Given the description of an element on the screen output the (x, y) to click on. 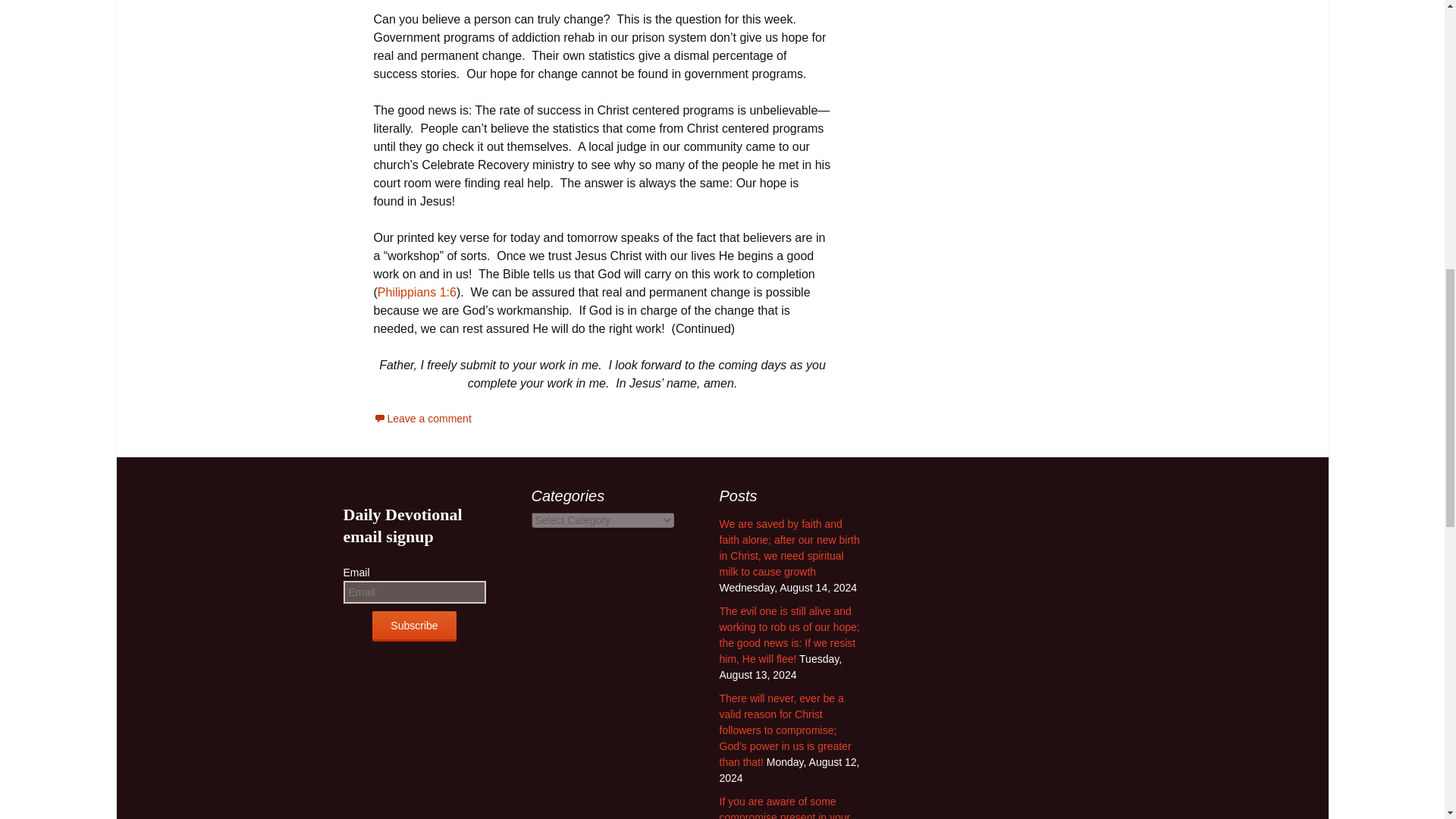
Subscribe (413, 625)
Leave a comment (421, 418)
Philippians 1:6 (417, 291)
